Given the description of an element on the screen output the (x, y) to click on. 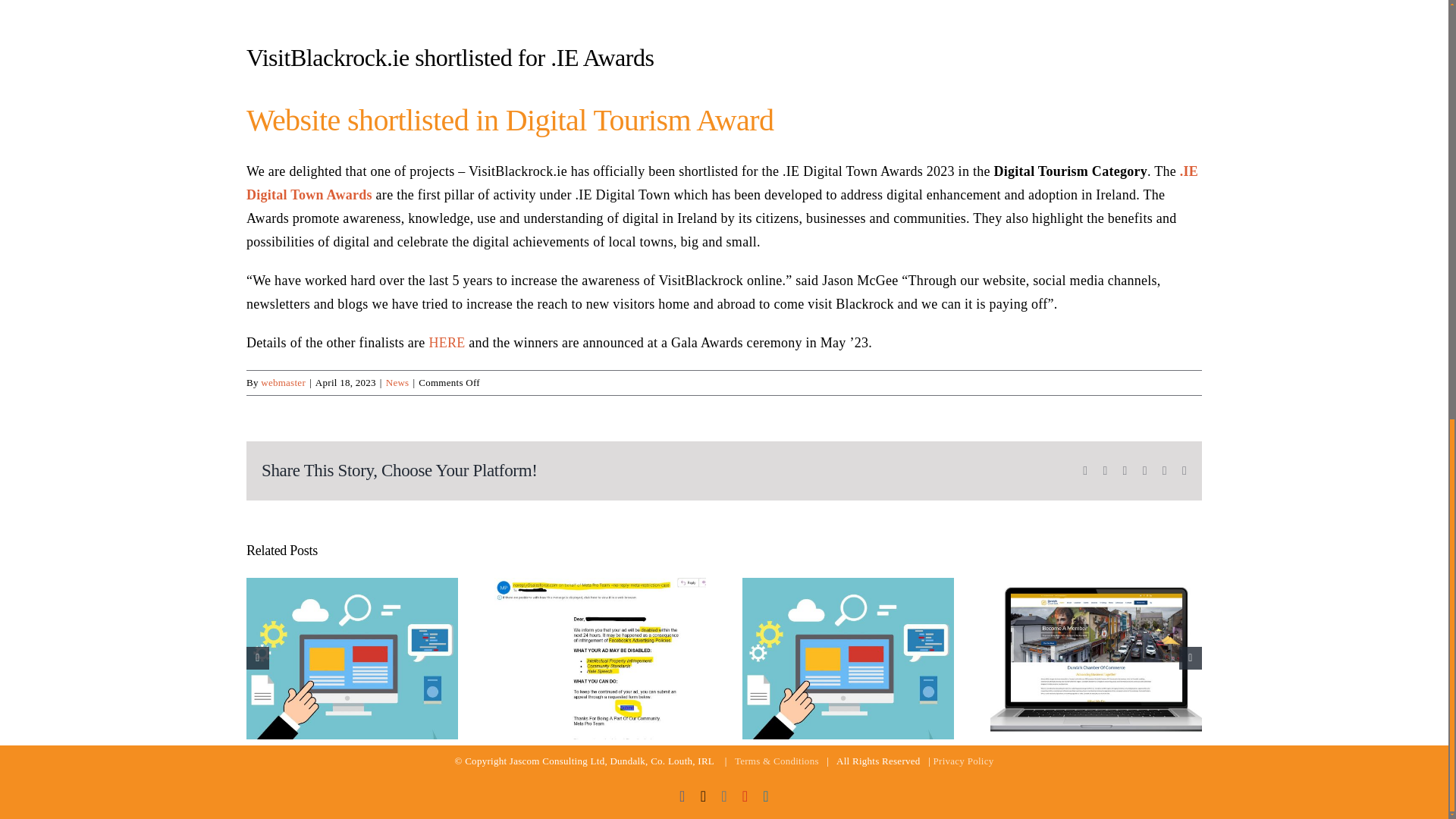
News (397, 382)
Posts by webmaster (282, 382)
View Larger Image (724, 9)
.IE Digital Town Awards (722, 182)
webmaster (282, 382)
HERE (446, 342)
